Given the description of an element on the screen output the (x, y) to click on. 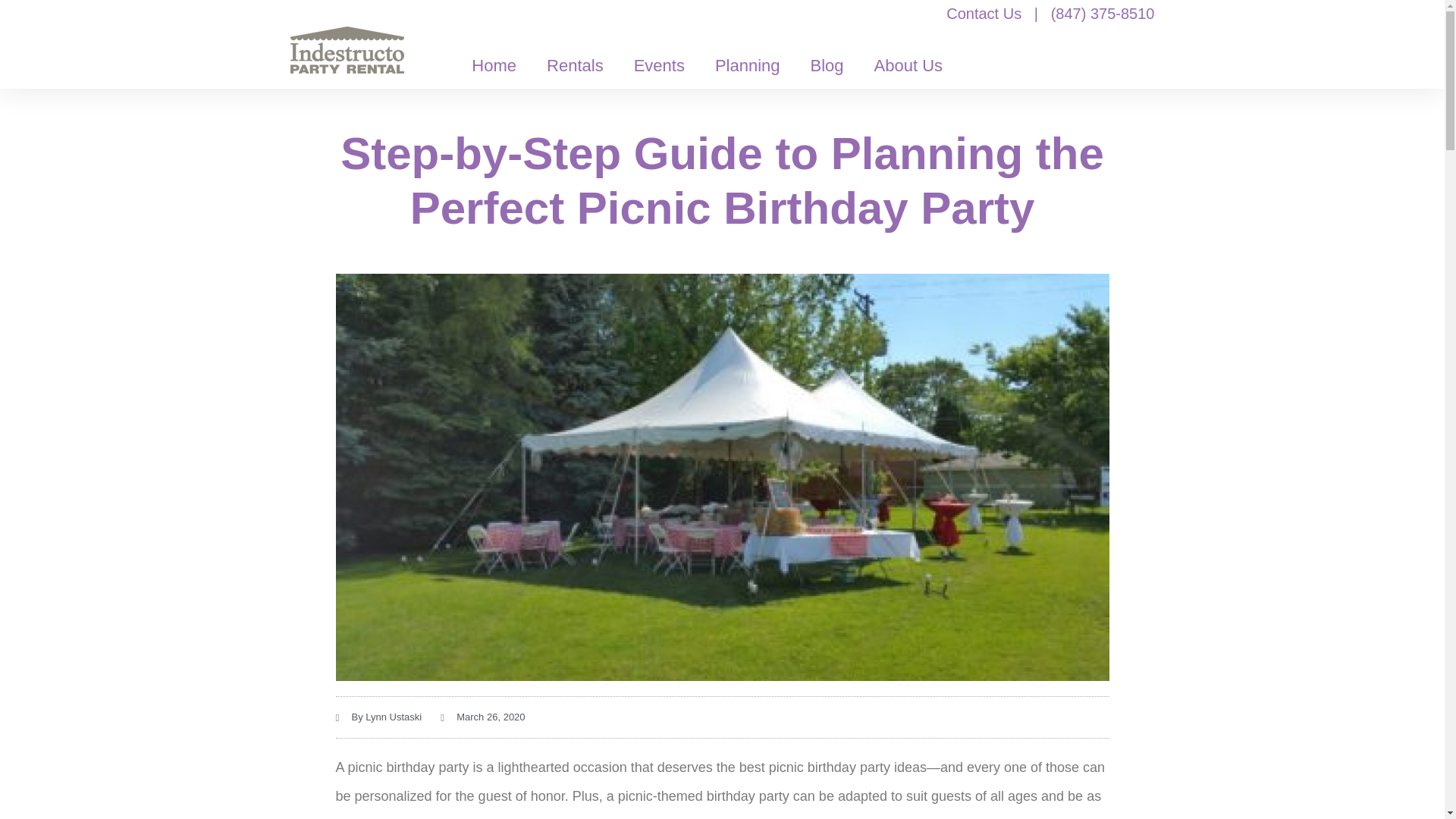
About Us (908, 65)
Contact Us for your party rental equipment (984, 13)
Home (494, 65)
Events (659, 65)
Blog (826, 65)
March 26, 2020 (482, 717)
Contact Us (984, 13)
Rentals (574, 65)
Planning (747, 65)
By Lynn Ustaski (378, 717)
